Given the description of an element on the screen output the (x, y) to click on. 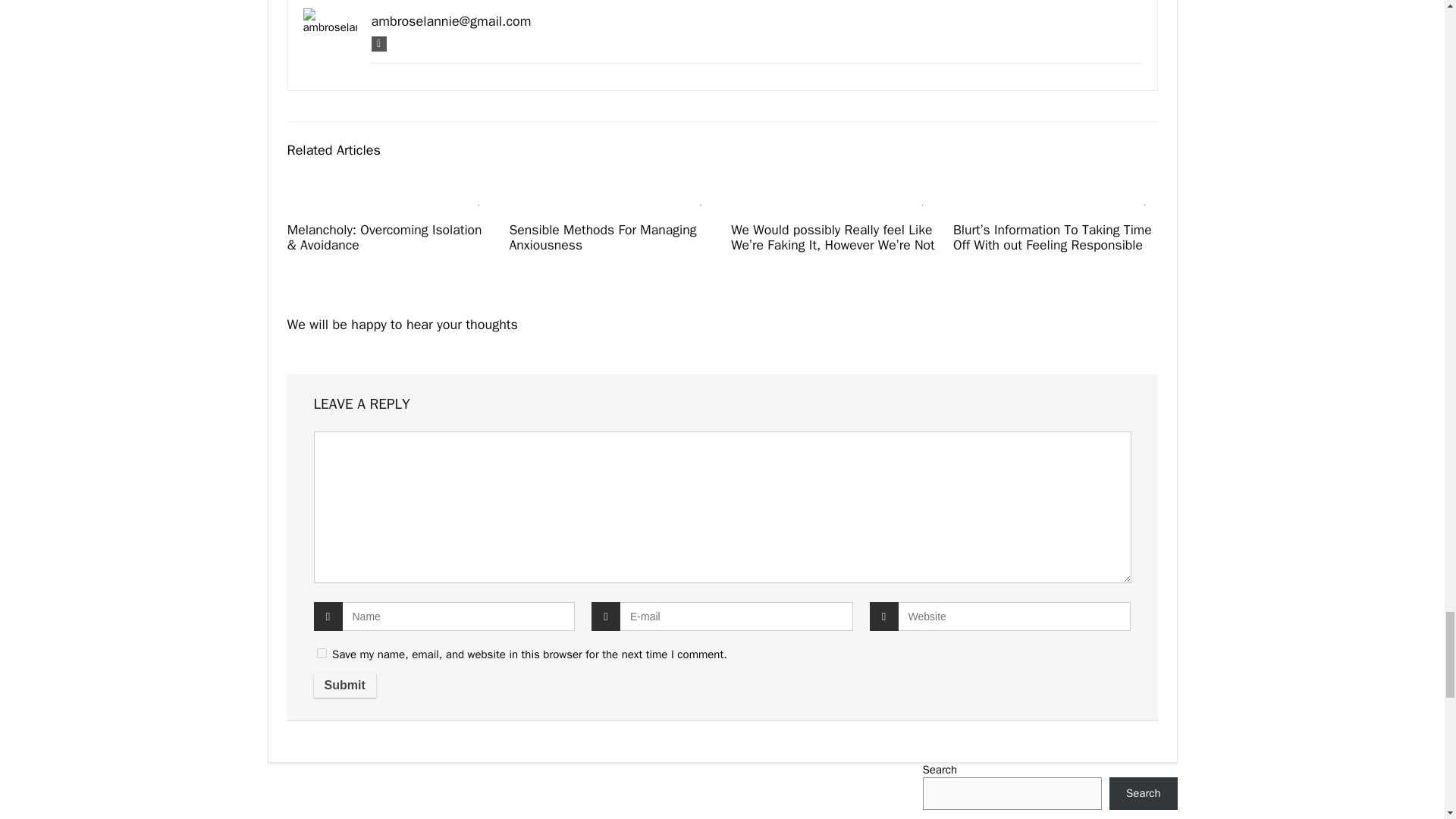
yes (321, 653)
Submit (344, 685)
